Given the description of an element on the screen output the (x, y) to click on. 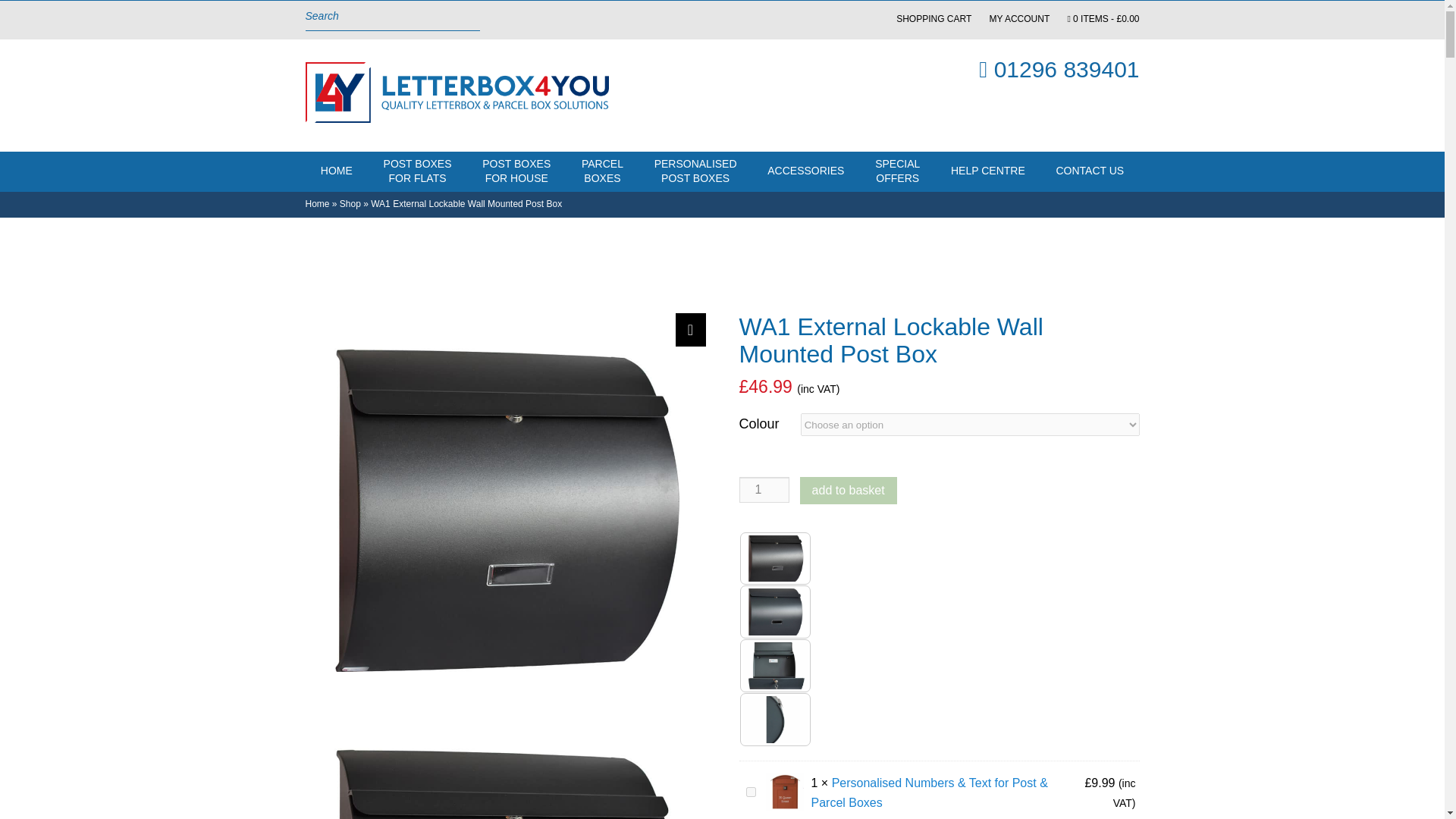
SHOPPING CART (933, 18)
ACCESSORIES (806, 171)
View your shopping cart (1102, 18)
39149 (750, 791)
HELP CENTRE (602, 171)
Shop (988, 171)
Home (417, 171)
MY ACCOUNT (350, 204)
HOME (316, 204)
CONTACT US (516, 171)
